Given the description of an element on the screen output the (x, y) to click on. 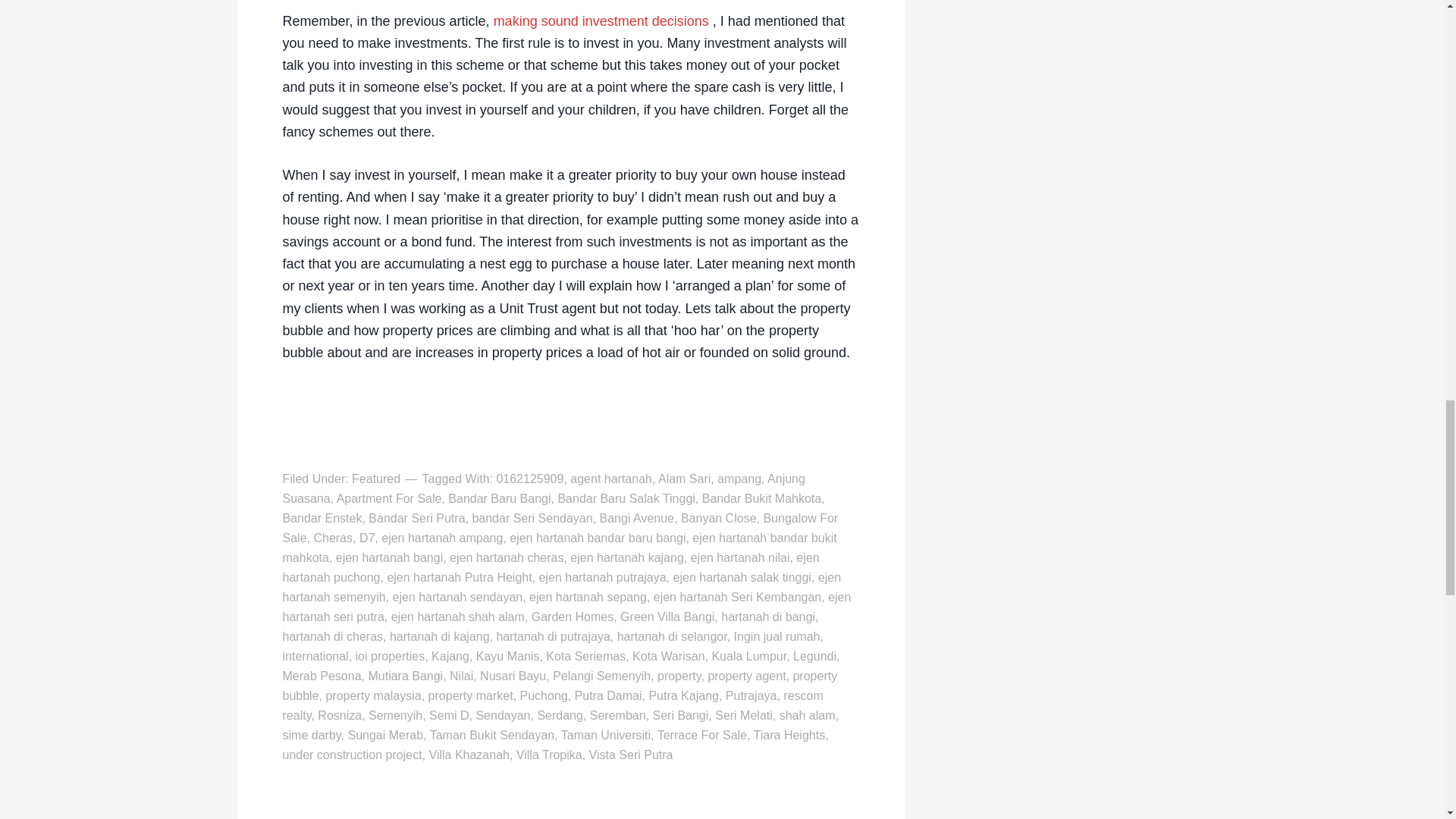
Bandar Enstek (321, 517)
Cheras (332, 537)
Bandar Baru Salak Tinggi (625, 498)
Bungalow For Sale (560, 527)
agent hartanah (611, 478)
Bandar Baru Bangi (499, 498)
making sound investment decisions (601, 20)
Banyan Close (719, 517)
D7 (366, 537)
Alam Sari (684, 478)
Featured (376, 478)
Bandar Seri Putra (416, 517)
0162125909 (529, 478)
Anjung Suasana (543, 488)
Bandar Bukit Mahkota (761, 498)
